Given the description of an element on the screen output the (x, y) to click on. 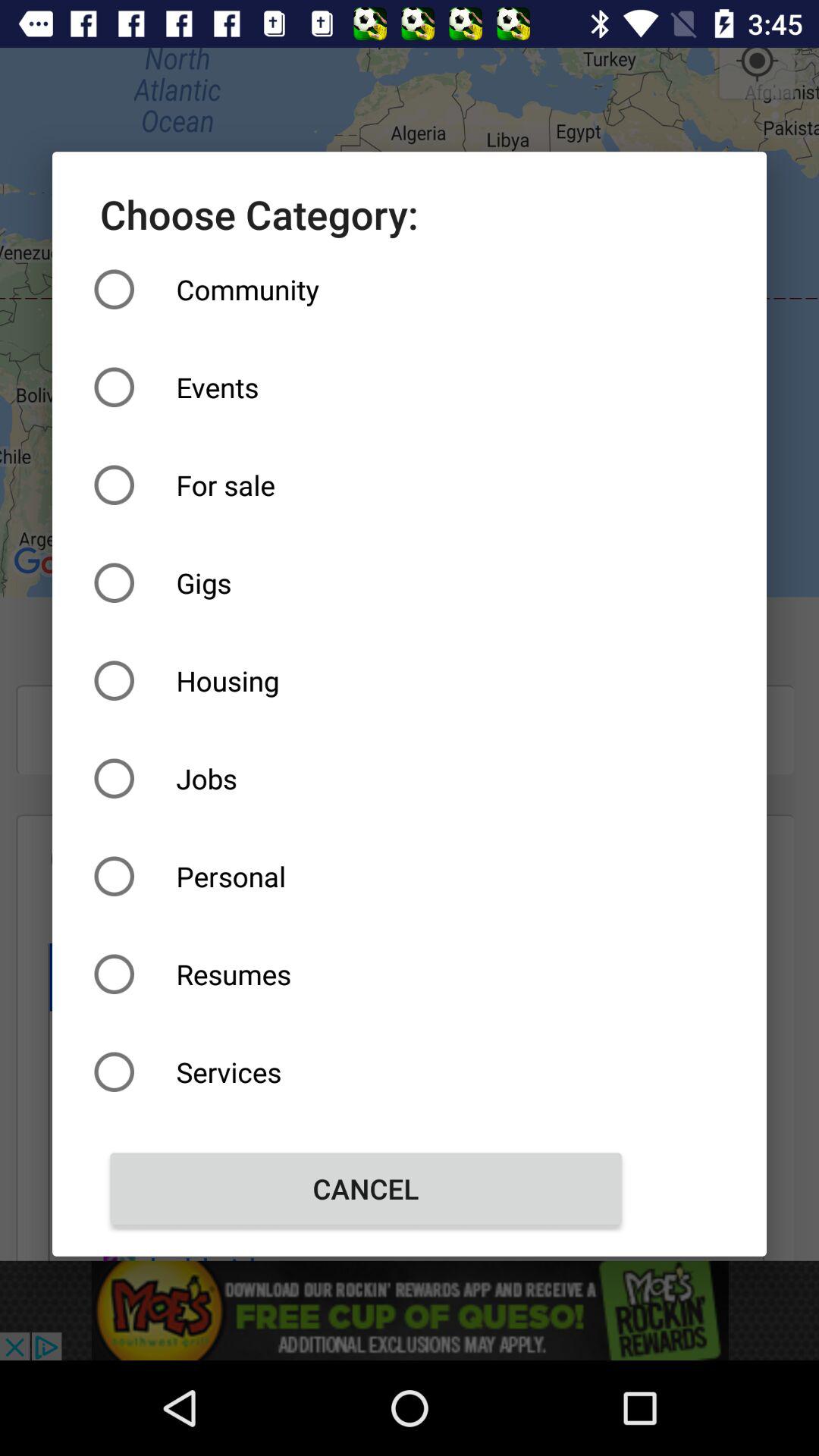
launch the item above the personal (365, 778)
